Given the description of an element on the screen output the (x, y) to click on. 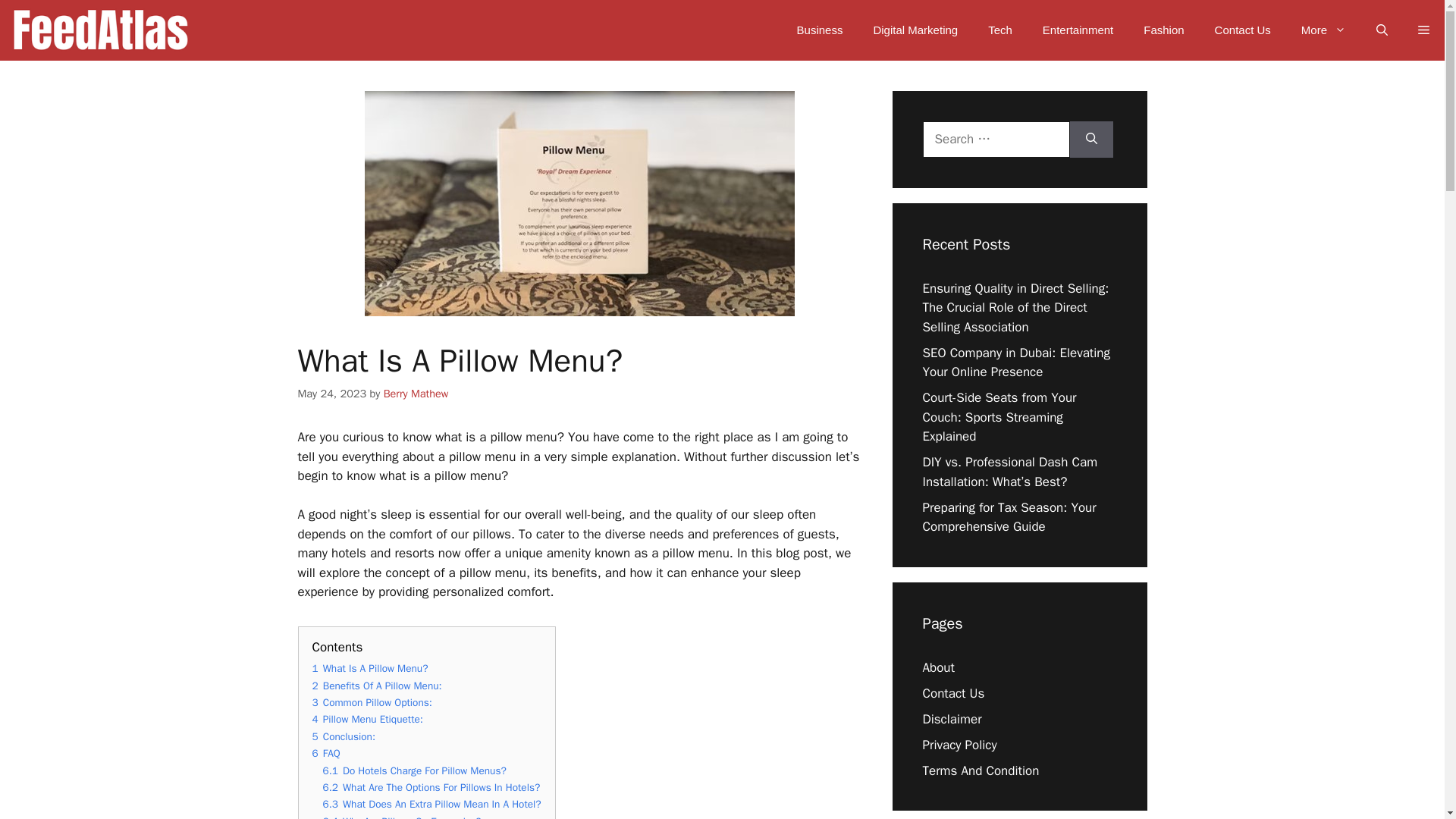
Tech (999, 30)
3 Common Pillow Options: (372, 702)
More (1323, 30)
SEO Company in Dubai: Elevating Your Online Presence (1015, 361)
4 Pillow Menu Etiquette: (368, 718)
FeedAtlas (98, 30)
Business (820, 30)
Contact Us (1242, 30)
5 Conclusion: (344, 736)
Court-Side Seats from Your Couch: Sports Streaming Explained (998, 416)
